Given the description of an element on the screen output the (x, y) to click on. 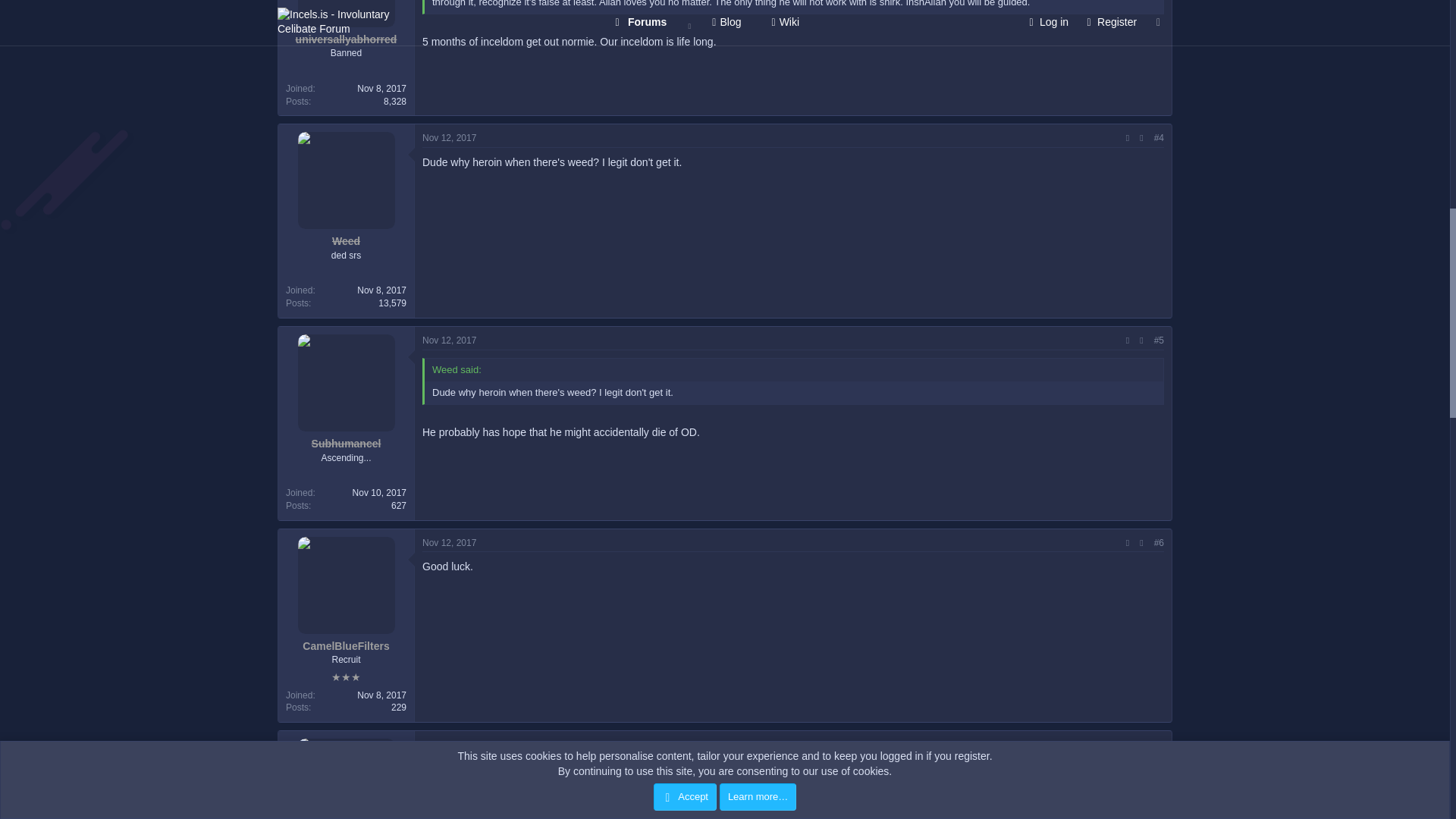
Nov 12, 2017 at 4:51 AM (449, 744)
Nov 12, 2017 at 4:38 AM (449, 542)
Nov 12, 2017 at 3:57 AM (449, 137)
Nov 12, 2017 at 4:29 AM (449, 339)
